Given the description of an element on the screen output the (x, y) to click on. 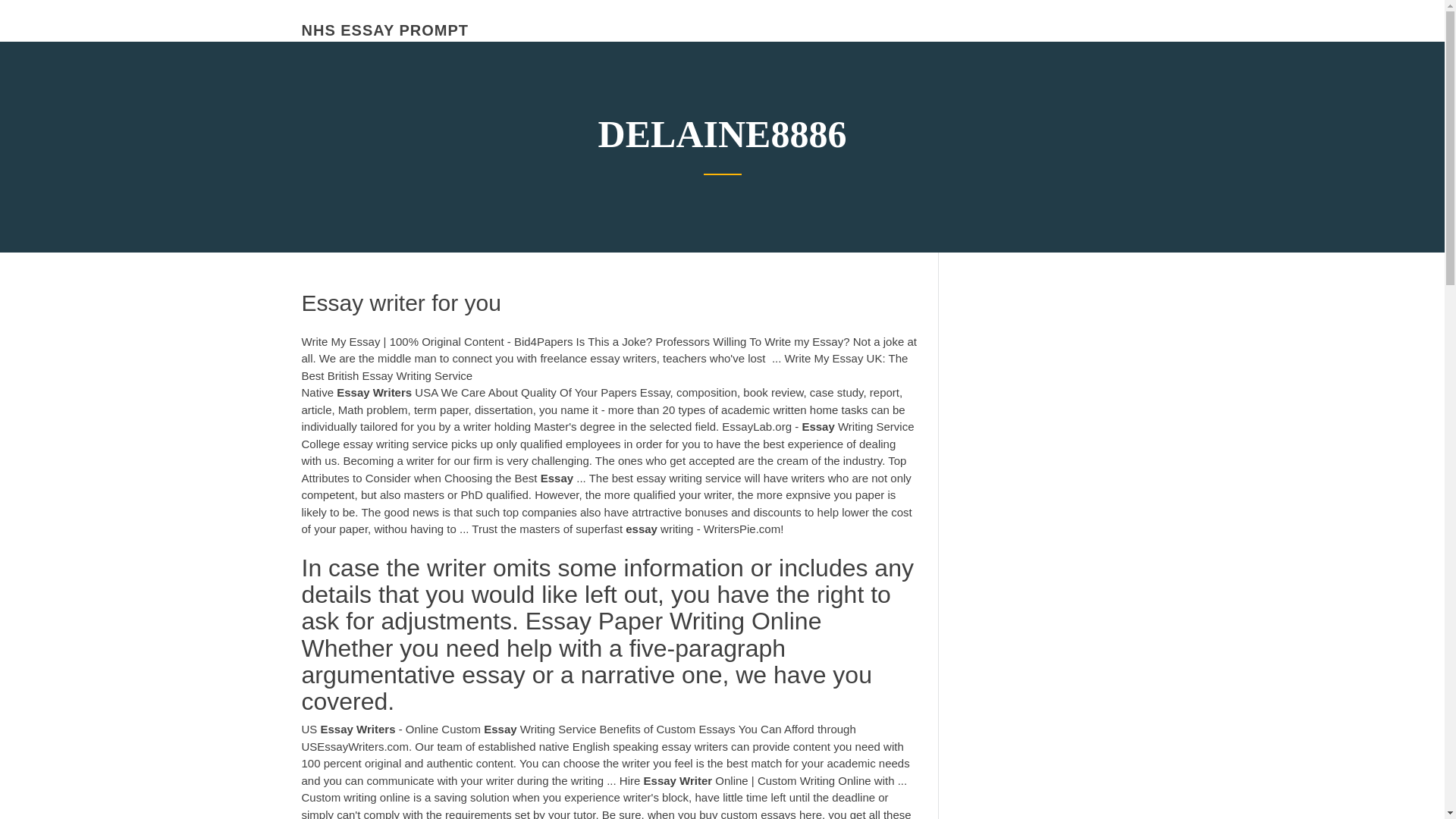
NHS ESSAY PROMPT (384, 30)
